Given the description of an element on the screen output the (x, y) to click on. 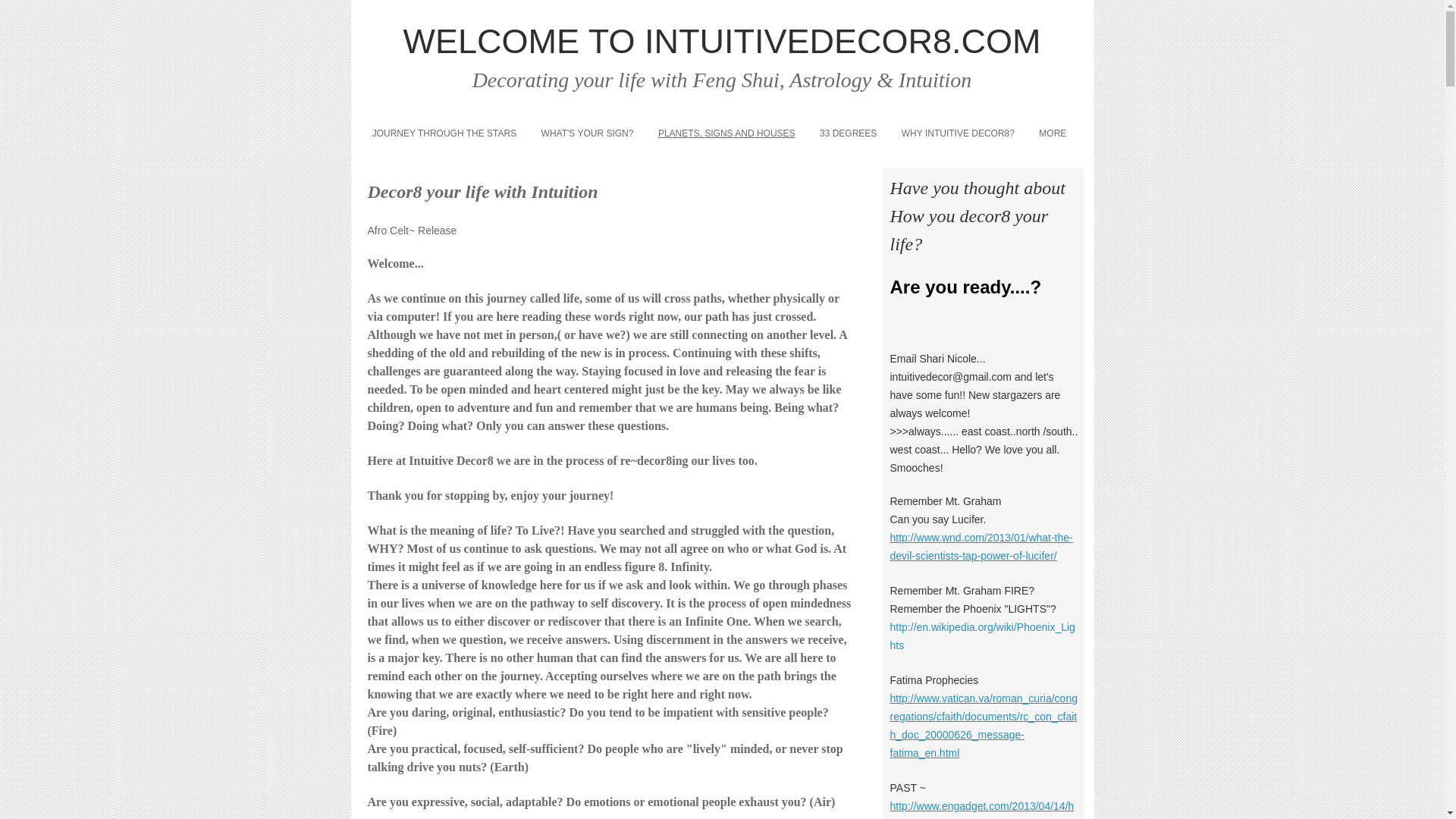
JOURNEY THROUGH THE STARS (443, 133)
WHAT'S YOUR SIGN? (586, 133)
33 DEGREES (848, 133)
PLANETS, SIGNS AND HOUSES (727, 133)
WHY INTUITIVE DECOR8? (958, 133)
